Given the description of an element on the screen output the (x, y) to click on. 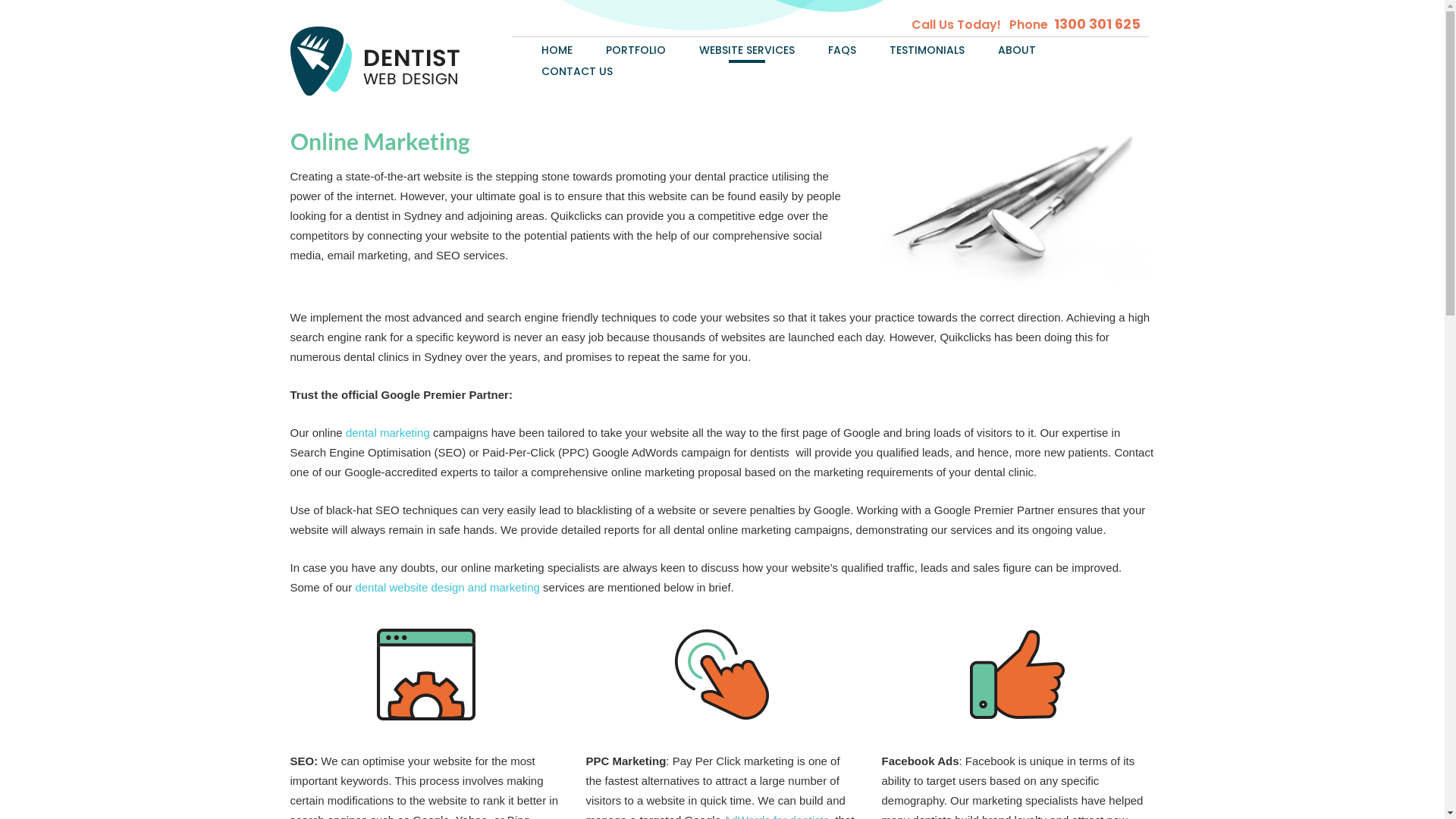
dental website design and marketing Element type: text (446, 586)
dental marketing Element type: text (387, 432)
WEBSITE SERVICES Element type: text (746, 47)
ABOUT Element type: text (1016, 47)
PORTFOLIO Element type: text (635, 47)
HOME Element type: text (556, 47)
FAQS Element type: text (841, 47)
CONTACT US Element type: text (576, 68)
TESTIMONIALS Element type: text (926, 47)
1300 301 625 Element type: text (1097, 23)
